Given the description of an element on the screen output the (x, y) to click on. 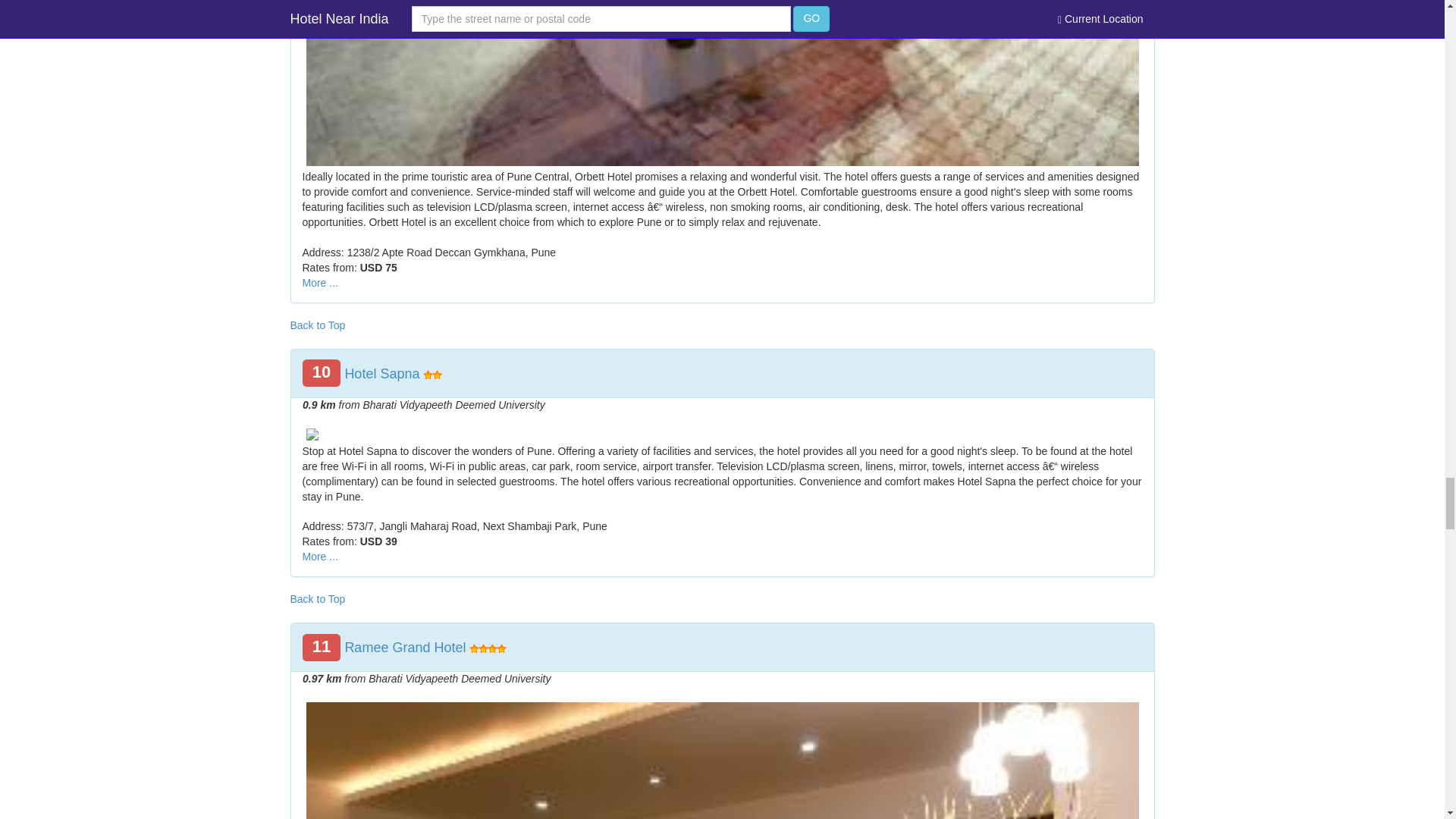
More ... (319, 282)
Back to Top (317, 598)
Hotel Sapna (381, 373)
More ... (319, 556)
Back to Top (317, 325)
Ramee Grand Hotel (404, 647)
